Given the description of an element on the screen output the (x, y) to click on. 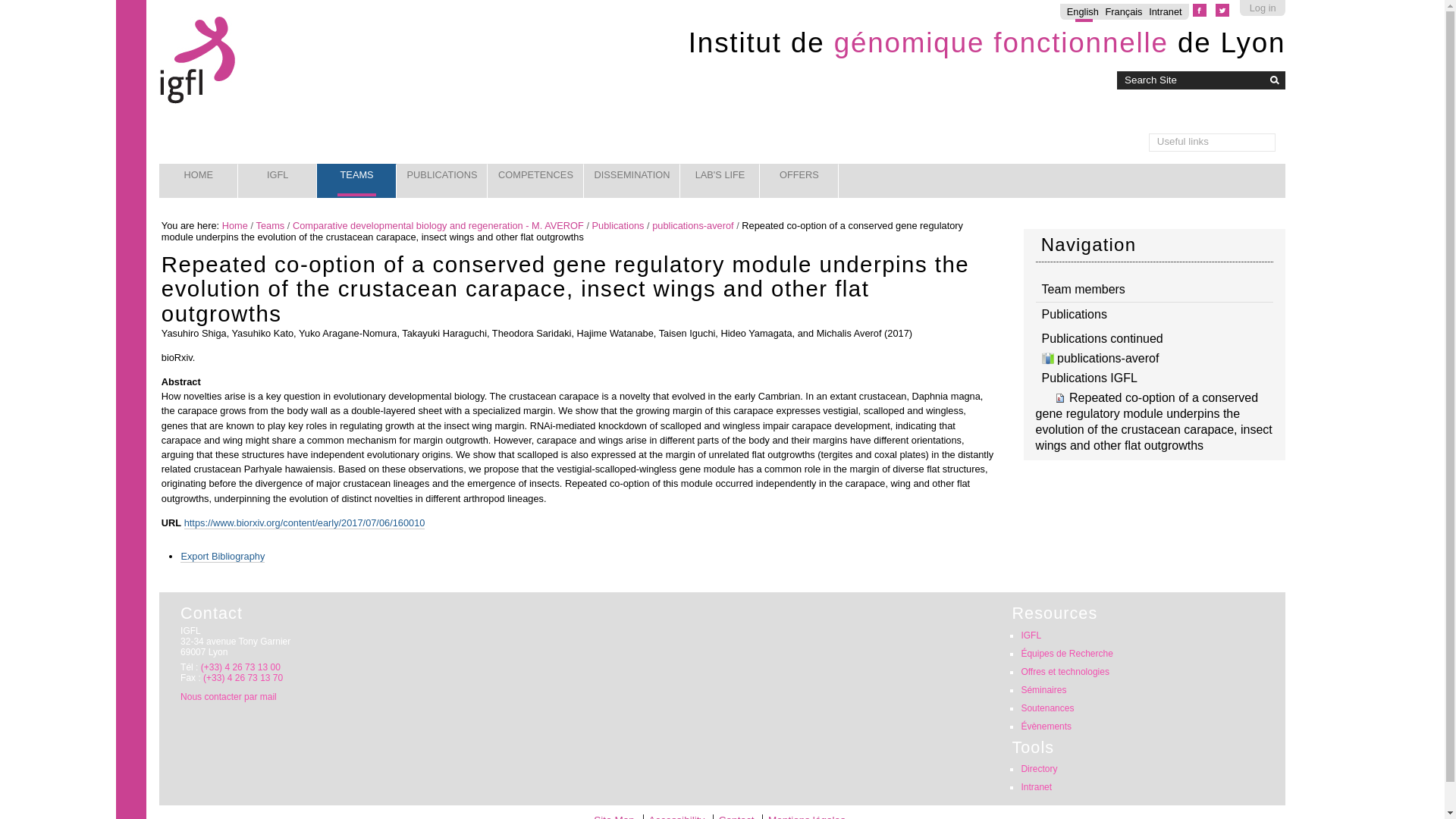
English (1083, 11)
TEAMS (356, 180)
Authentication required (1164, 11)
IGFL (277, 180)
Skip to content. (178, 19)
English (1083, 11)
Intranet (1164, 11)
HOME (198, 180)
PUBLICATIONS (441, 180)
